Given the description of an element on the screen output the (x, y) to click on. 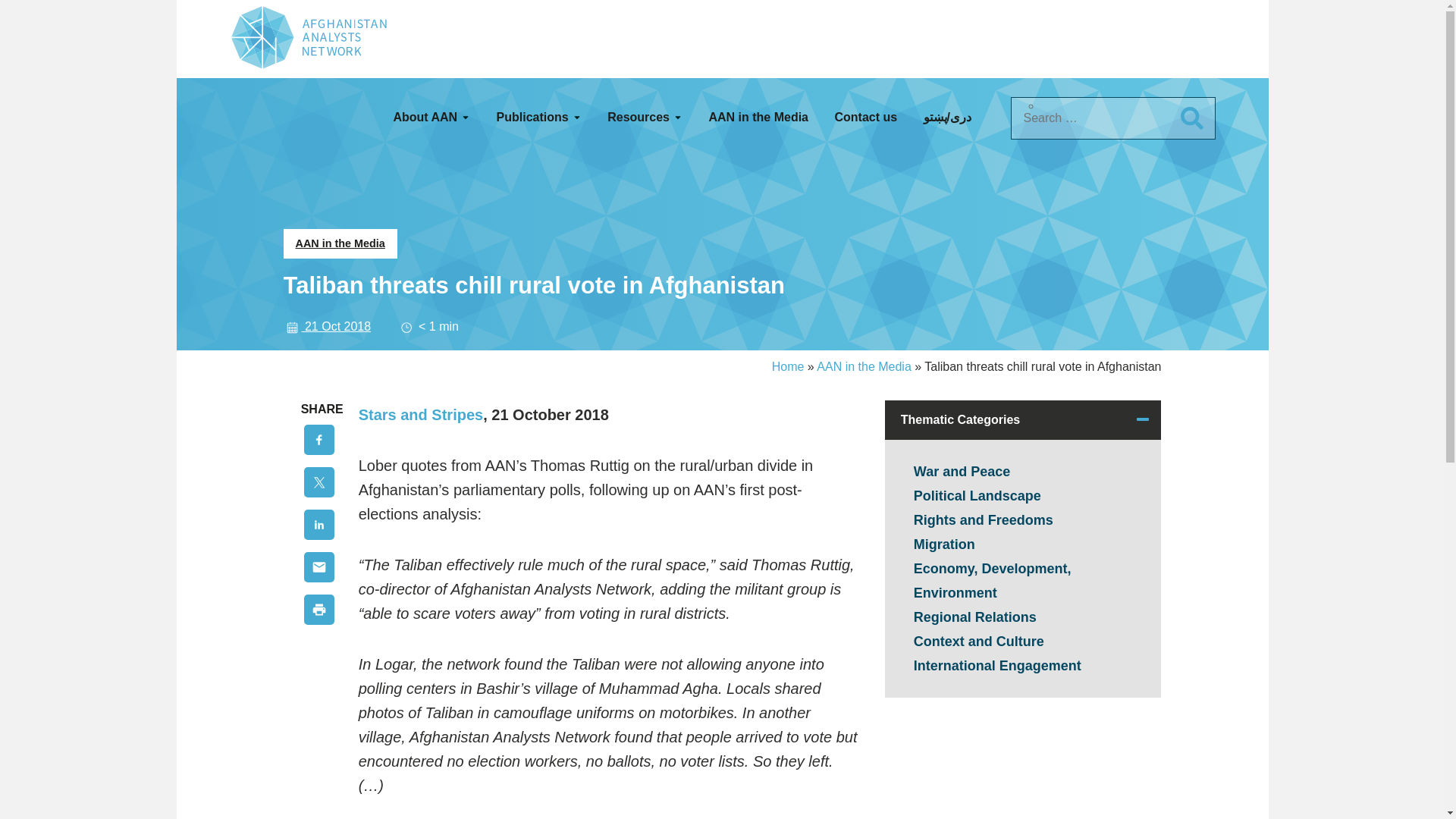
Stars and Stripes (420, 414)
AAN in the Media (758, 116)
About AAN (431, 116)
AAN in the Media (863, 366)
AAN in the Media (340, 243)
21 Oct 2018 (327, 326)
Contact us (865, 116)
Resources (644, 116)
Home (788, 366)
21 Oct 2018 (327, 326)
Publications (538, 116)
